Given the description of an element on the screen output the (x, y) to click on. 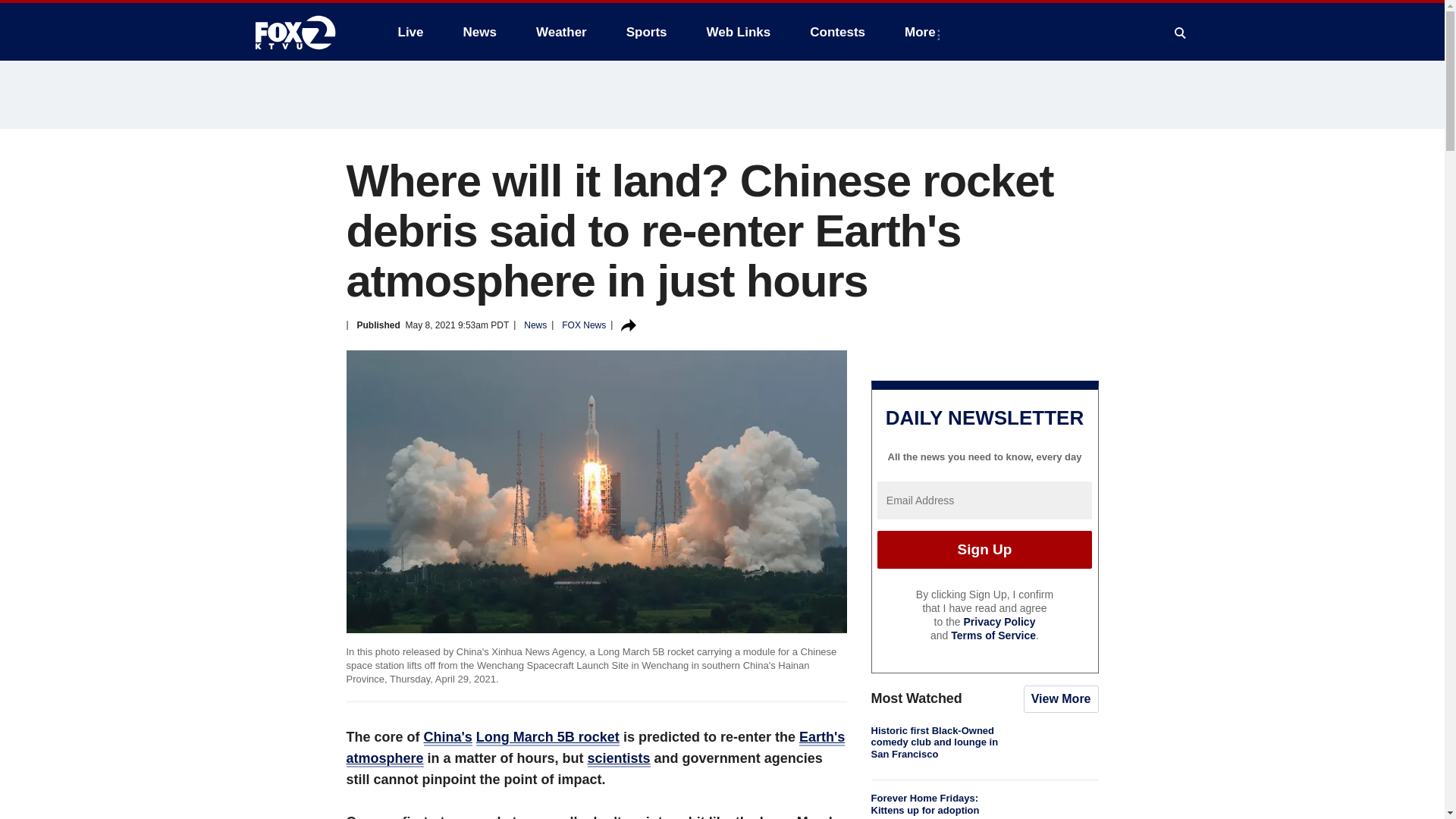
News (479, 32)
Web Links (738, 32)
Live (410, 32)
More (922, 32)
Sports (646, 32)
Sign Up (984, 549)
Weather (561, 32)
Contests (837, 32)
